Given the description of an element on the screen output the (x, y) to click on. 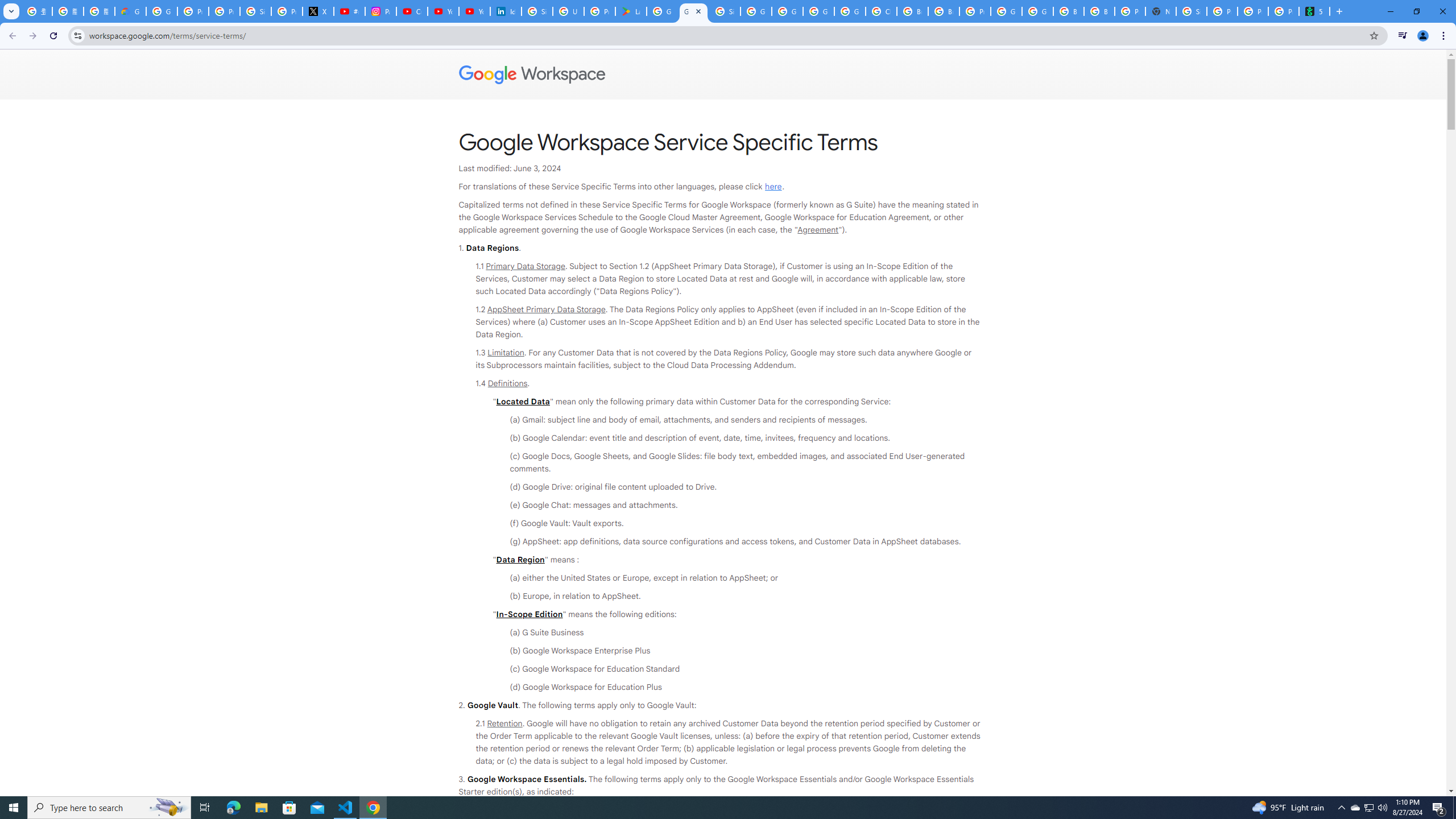
Privacy Help Center - Policies Help (223, 11)
Sign in - Google Accounts (1190, 11)
Browse Chrome as a guest - Computer - Google Chrome Help (1068, 11)
Google Workspace - Specific Terms (693, 11)
Google Cloud Platform (1037, 11)
Google Cloud Platform (818, 11)
